Given the description of an element on the screen output the (x, y) to click on. 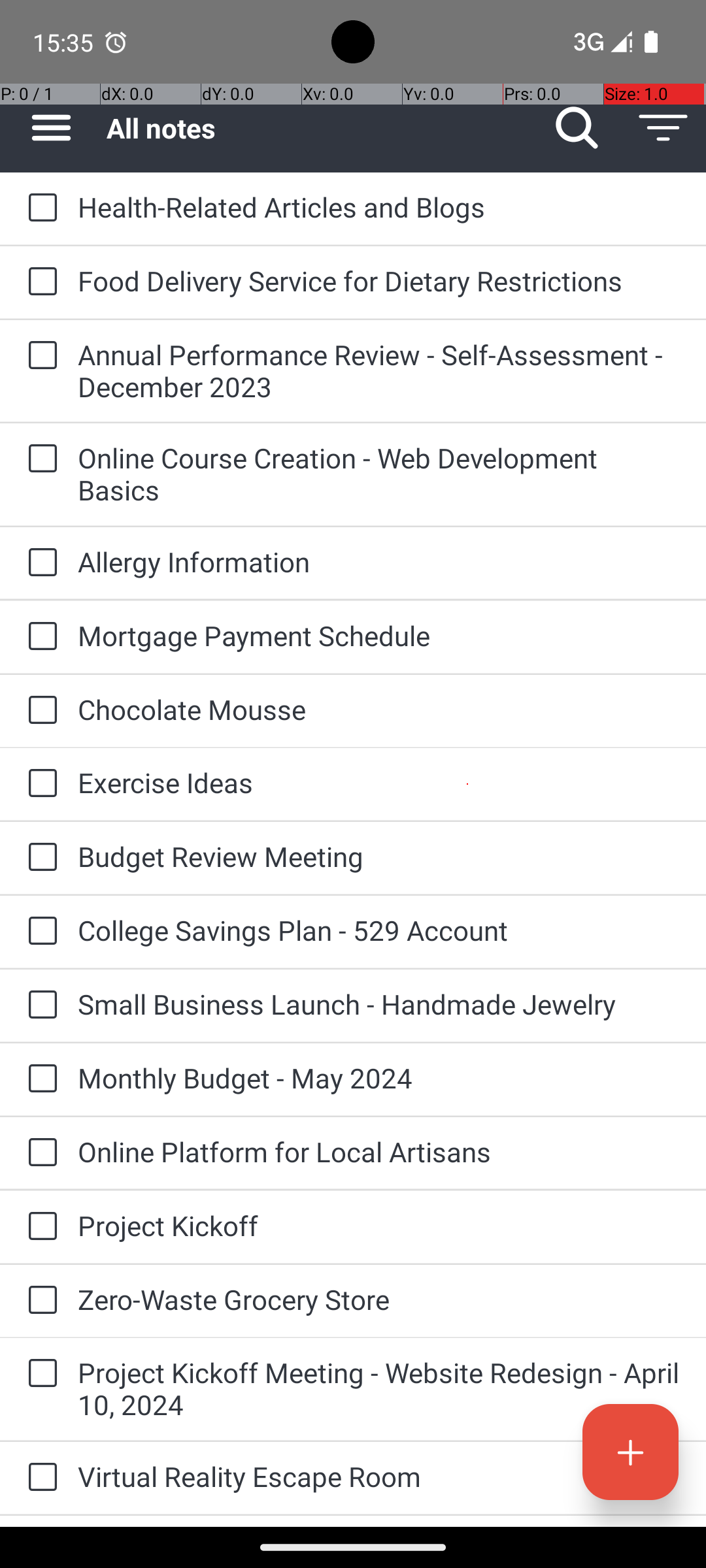
to-do: Health-Related Articles and Blogs Element type: android.widget.CheckBox (38, 208)
Health-Related Articles and Blogs Element type: android.widget.TextView (378, 206)
to-do: Food Delivery Service for Dietary Restrictions Element type: android.widget.CheckBox (38, 282)
Food Delivery Service for Dietary Restrictions Element type: android.widget.TextView (378, 280)
to-do: Mortgage Payment Schedule Element type: android.widget.CheckBox (38, 637)
Mortgage Payment Schedule Element type: android.widget.TextView (378, 634)
to-do: Chocolate Mousse Element type: android.widget.CheckBox (38, 710)
Chocolate Mousse Element type: android.widget.TextView (378, 708)
to-do: Exercise Ideas Element type: android.widget.CheckBox (38, 783)
to-do: College Savings Plan - 529 Account Element type: android.widget.CheckBox (38, 931)
College Savings Plan - 529 Account Element type: android.widget.TextView (378, 929)
to-do: Small Business Launch - Handmade Jewelry Element type: android.widget.CheckBox (38, 1005)
Small Business Launch - Handmade Jewelry Element type: android.widget.TextView (378, 1003)
to-do: Monthly Budget - May 2024 Element type: android.widget.CheckBox (38, 1079)
Monthly Budget - May 2024 Element type: android.widget.TextView (378, 1077)
to-do: Online Platform for Local Artisans Element type: android.widget.CheckBox (38, 1153)
Online Platform for Local Artisans Element type: android.widget.TextView (378, 1151)
to-do: Project Kickoff Element type: android.widget.CheckBox (38, 1227)
Project Kickoff Element type: android.widget.TextView (378, 1224)
to-do: Zero-Waste Grocery Store Element type: android.widget.CheckBox (38, 1300)
Zero-Waste Grocery Store Element type: android.widget.TextView (378, 1298)
to-do: Project Kickoff Meeting - Website Redesign - April 10, 2024 Element type: android.widget.CheckBox (38, 1373)
Project Kickoff Meeting - Website Redesign - April 10, 2024 Element type: android.widget.TextView (378, 1387)
to-do: Virtual Reality Escape Room Element type: android.widget.CheckBox (38, 1477)
Virtual Reality Escape Room Element type: android.widget.TextView (378, 1475)
